Given the description of an element on the screen output the (x, y) to click on. 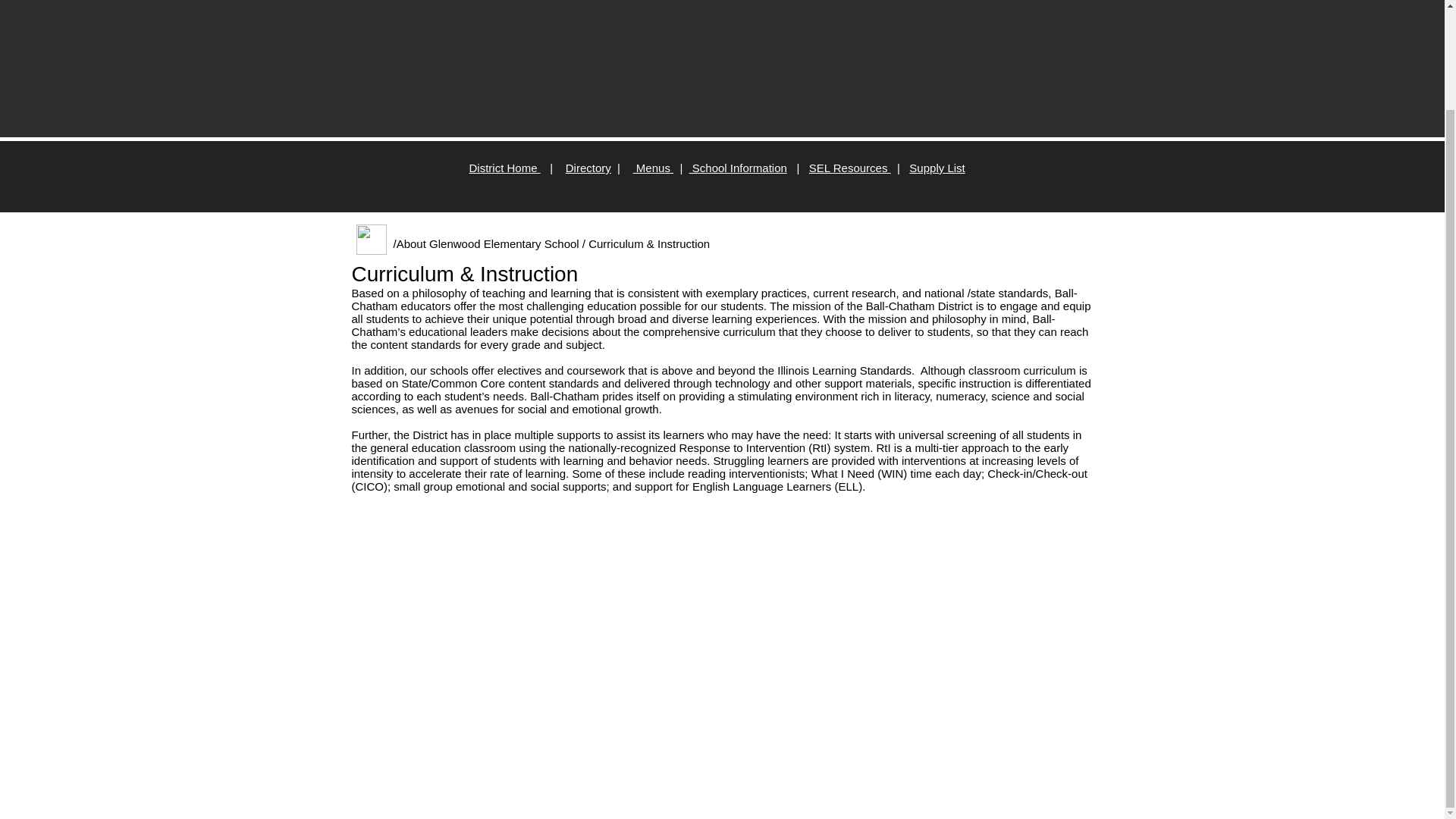
SEL Resources (850, 167)
District Home  (504, 167)
Directory (588, 167)
 Menus  (652, 167)
About Glenwood Elementary School (487, 243)
Supply List (935, 167)
 School Information (737, 167)
